Given the description of an element on the screen output the (x, y) to click on. 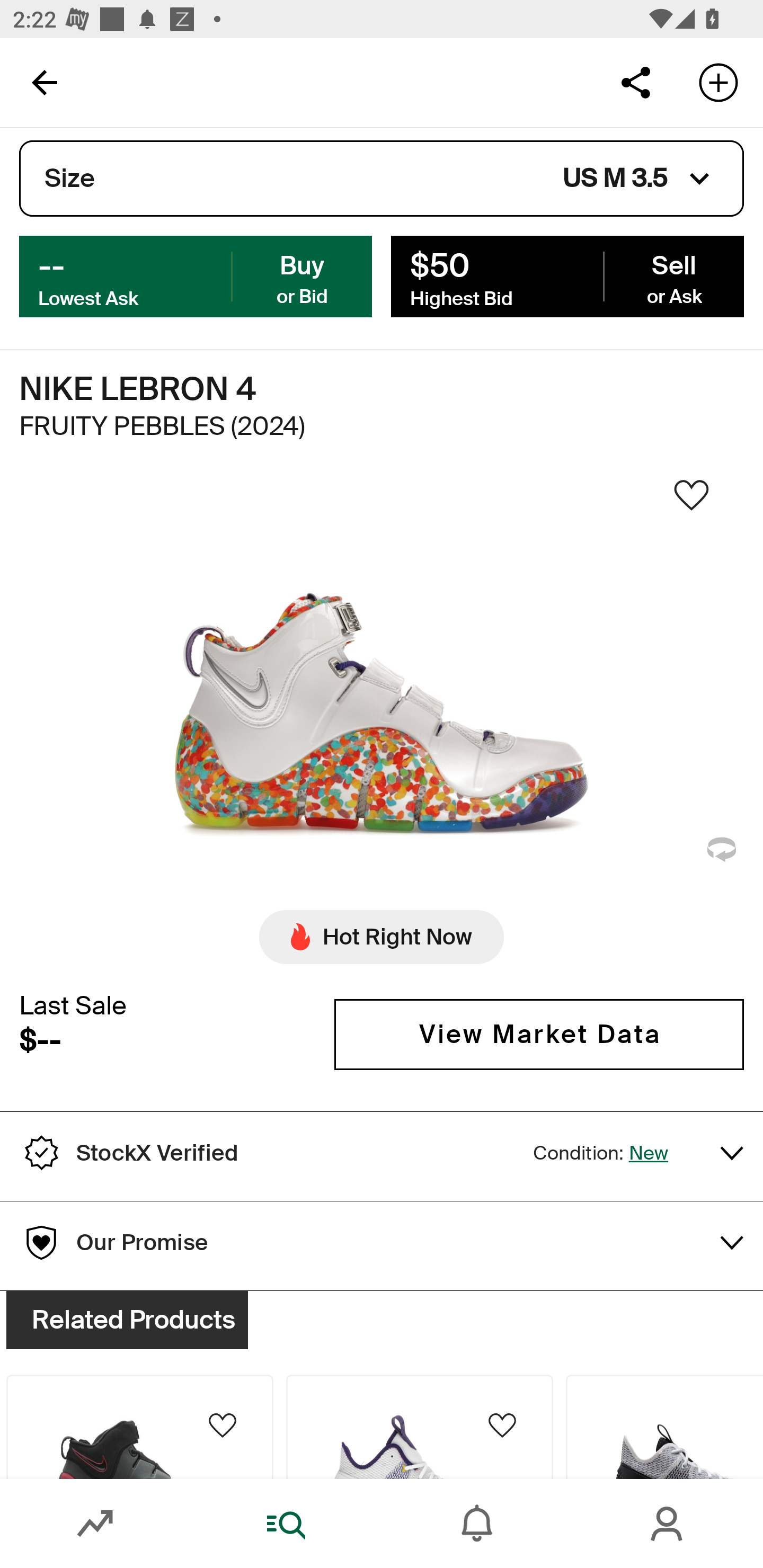
Share (635, 81)
Add (718, 81)
Size US M 3.5 (381, 178)
-- Buy Lowest Ask or Bid (195, 275)
$50 Sell Highest Bid or Ask (566, 275)
Sneaker Image (381, 699)
View Market Data (538, 1034)
Market (95, 1523)
Inbox (476, 1523)
Account (667, 1523)
